Given the description of an element on the screen output the (x, y) to click on. 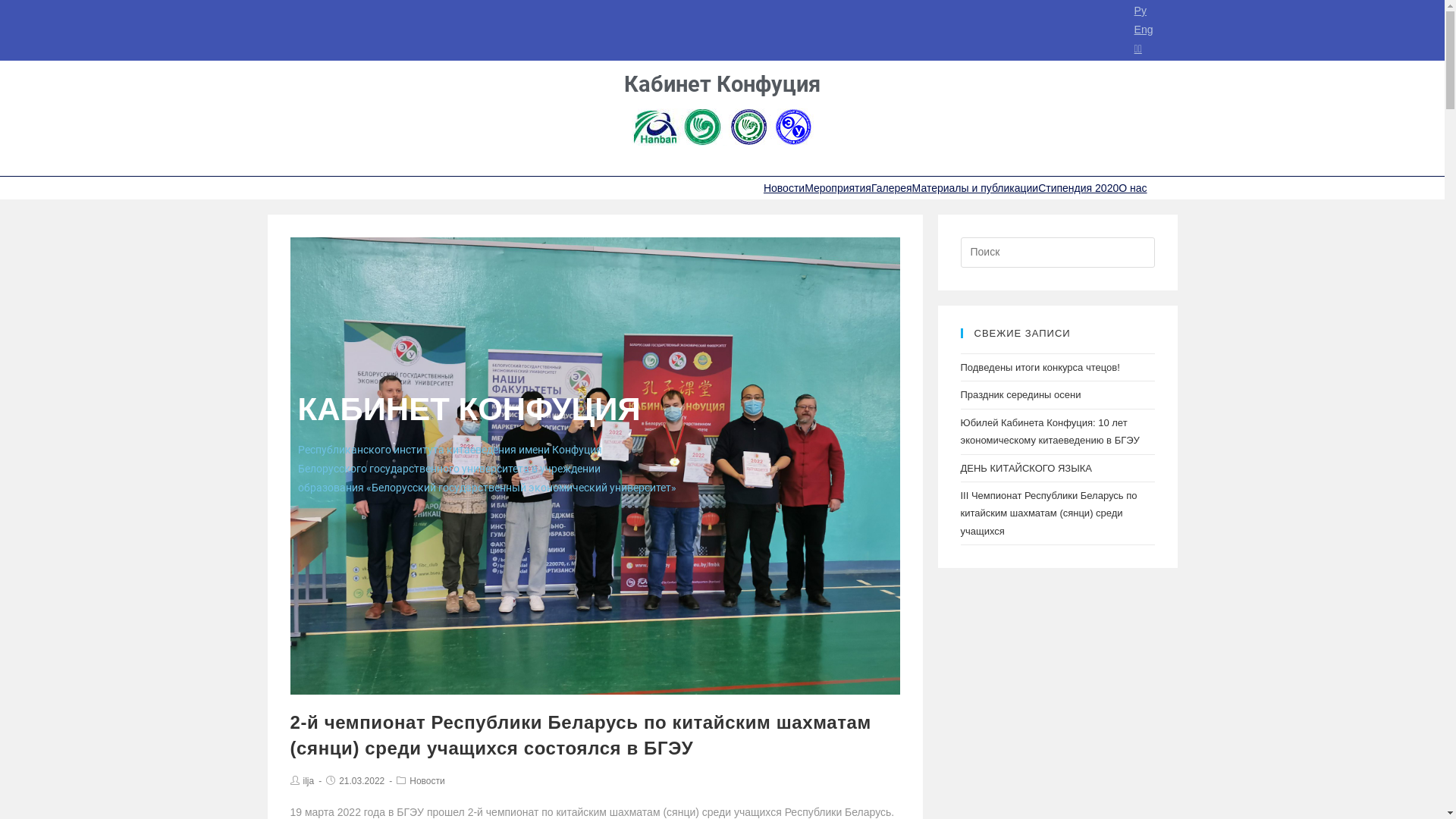
Eng Element type: text (1143, 29)
ilja Element type: text (308, 780)
